Given the description of an element on the screen output the (x, y) to click on. 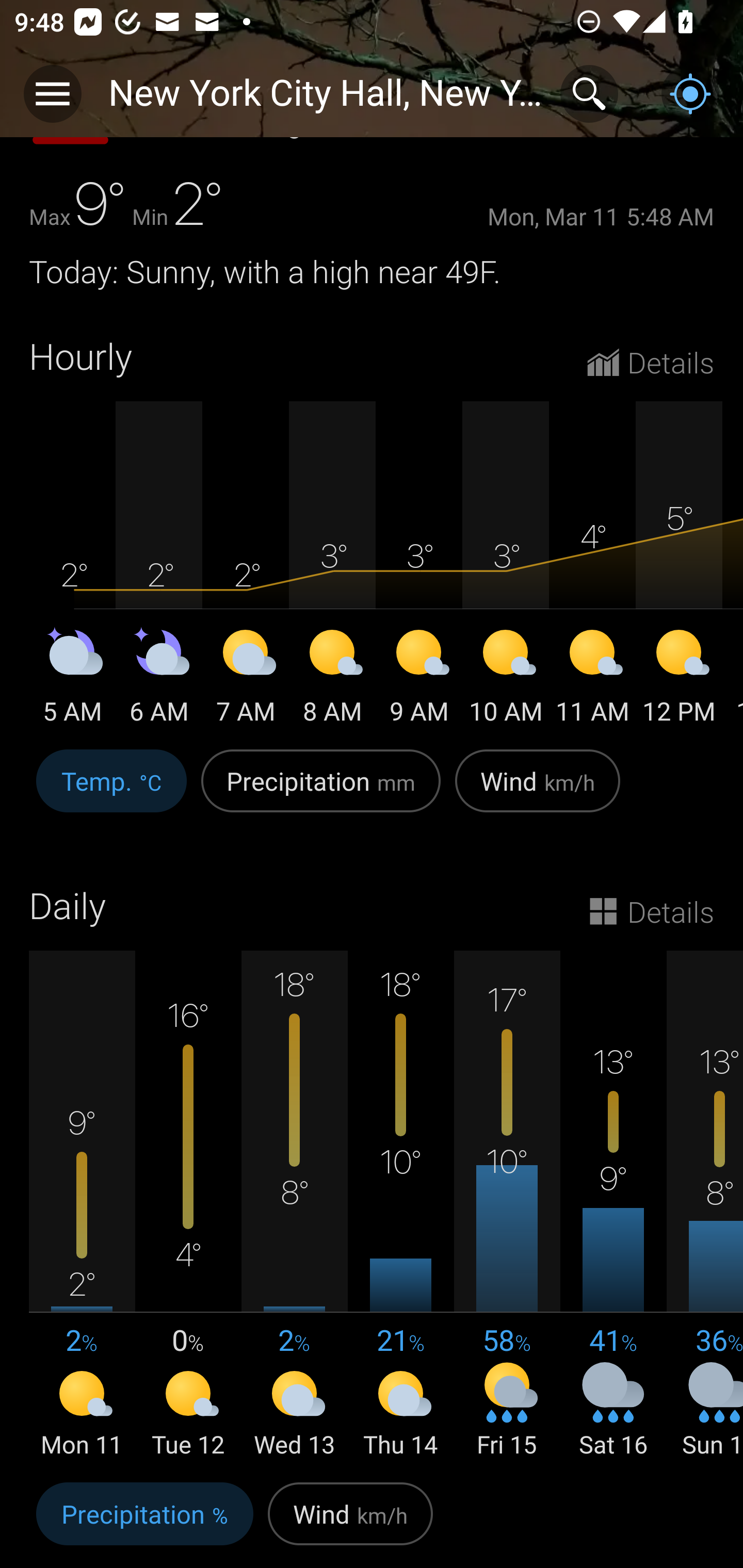
5 AM (71, 679)
6 AM (158, 679)
7 AM (245, 679)
8 AM (332, 679)
9 AM (418, 679)
10 AM (505, 679)
11 AM (592, 679)
12 PM (679, 679)
Temp. °C (110, 791)
Precipitation mm (320, 791)
Wind km/h (537, 791)
9° 2° 2 % Mon 11 (81, 1205)
16° 4° 0 % Tue 12 (188, 1205)
18° 8° 2 % Wed 13 (294, 1205)
18° 10° 21 % Thu 14 (400, 1205)
17° 10° 58 % Fri 15 (506, 1205)
13° 9° 41 % Sat 16 (613, 1205)
13° 8° 36 % Sun 17 (704, 1205)
Precipitation % (144, 1521)
Wind km/h (349, 1521)
